Given the description of an element on the screen output the (x, y) to click on. 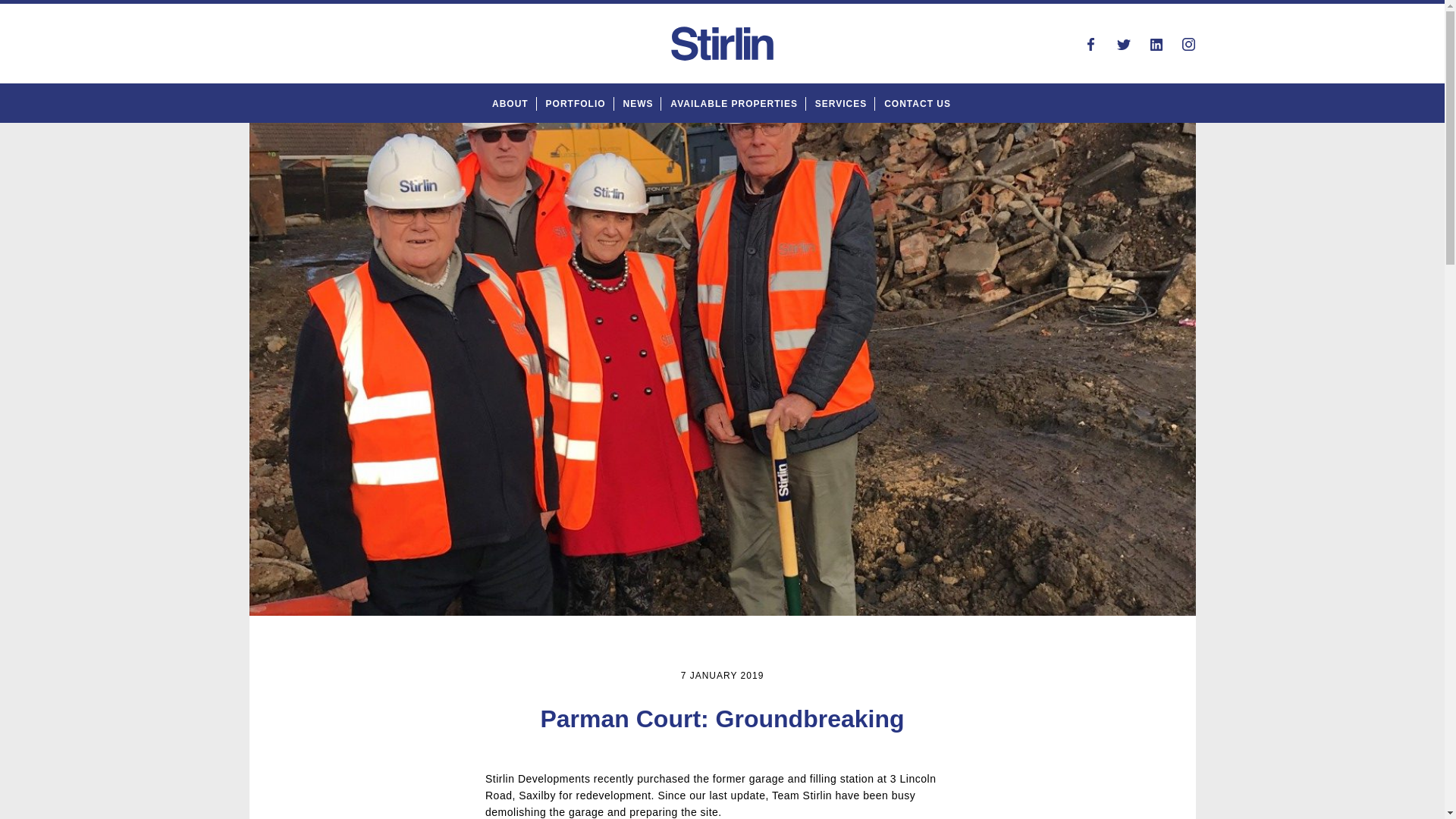
PORTFOLIO (575, 103)
NEWS (637, 103)
CONTACT US (916, 103)
SERVICES (840, 103)
ABOUT (510, 103)
AVAILABLE PROPERTIES (733, 103)
